Given the description of an element on the screen output the (x, y) to click on. 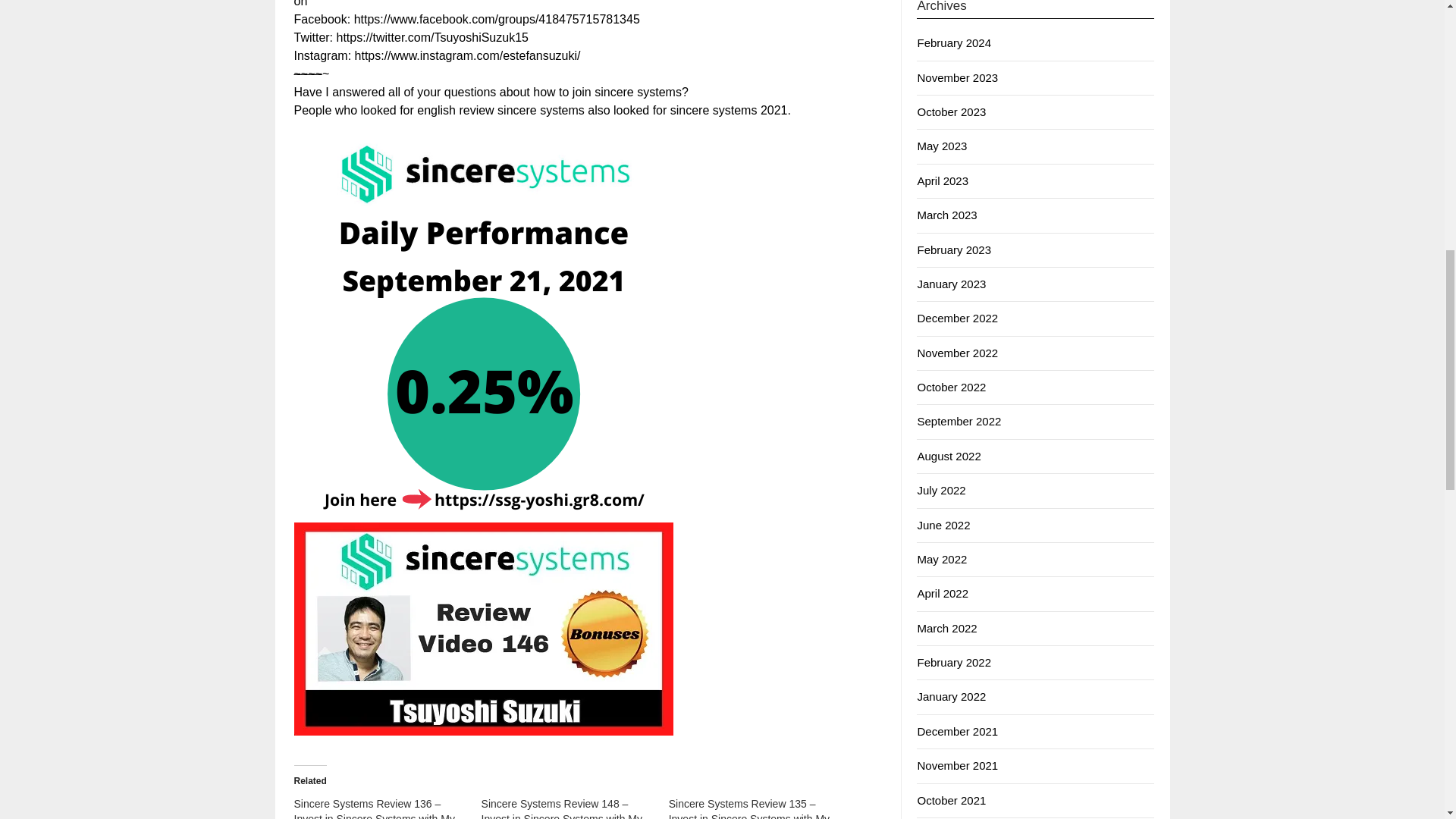
June 2022 (943, 524)
May 2023 (941, 145)
February 2023 (954, 249)
April 2023 (942, 180)
January 2023 (951, 283)
September 2022 (959, 420)
March 2023 (946, 214)
November 2022 (957, 352)
October 2023 (951, 111)
October 2022 (951, 386)
